Given the description of an element on the screen output the (x, y) to click on. 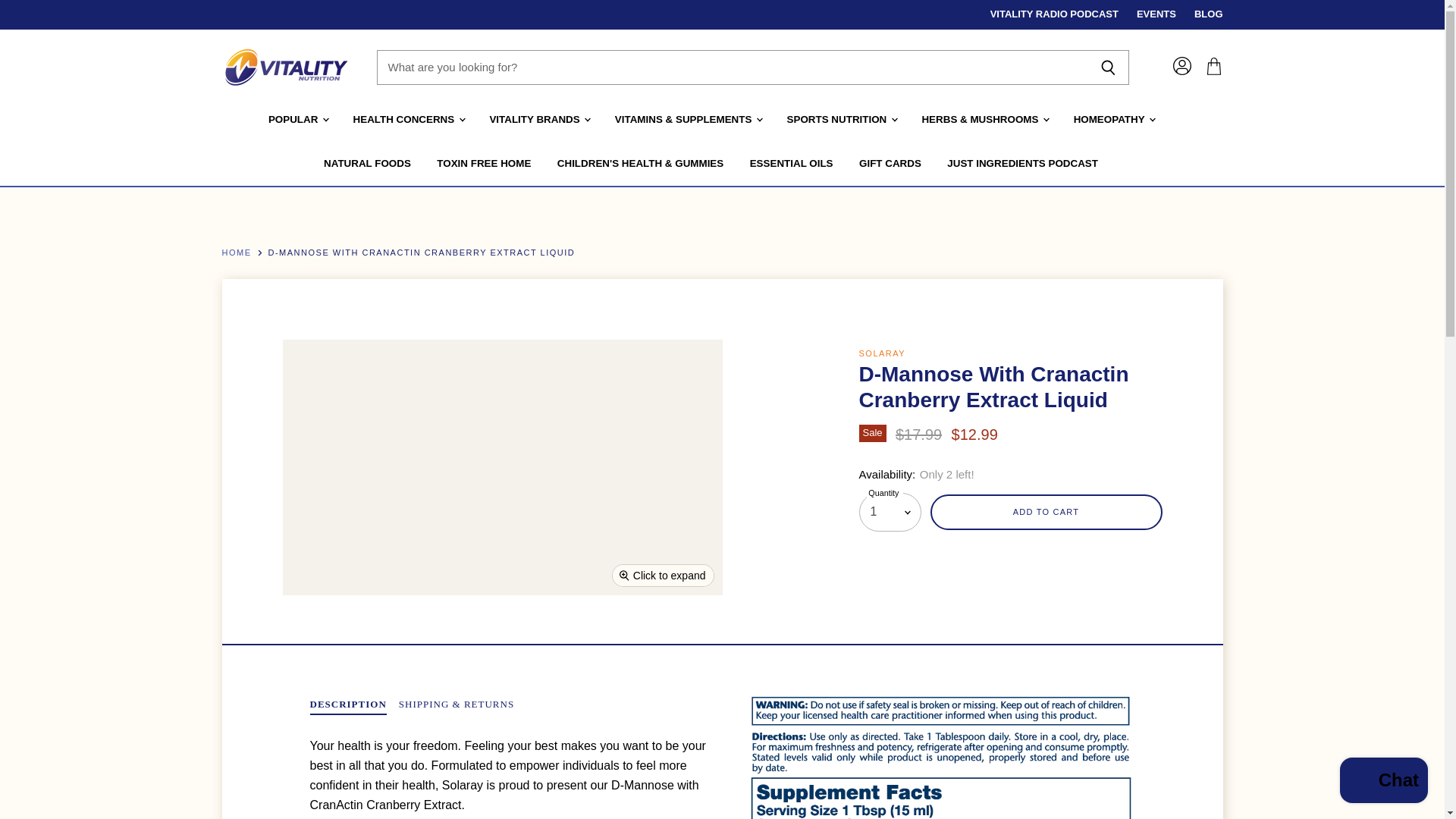
View cart (1213, 67)
ACCOUNT ICON (1184, 66)
Solaray (882, 352)
POPULAR (297, 119)
ACCOUNT ICON (1181, 65)
BLOG (1208, 14)
VITALITY RADIO PODCAST (1054, 14)
EVENTS (1156, 14)
Shopify online store chat (1383, 781)
HEALTH CONCERNS (408, 119)
